Given the description of an element on the screen output the (x, y) to click on. 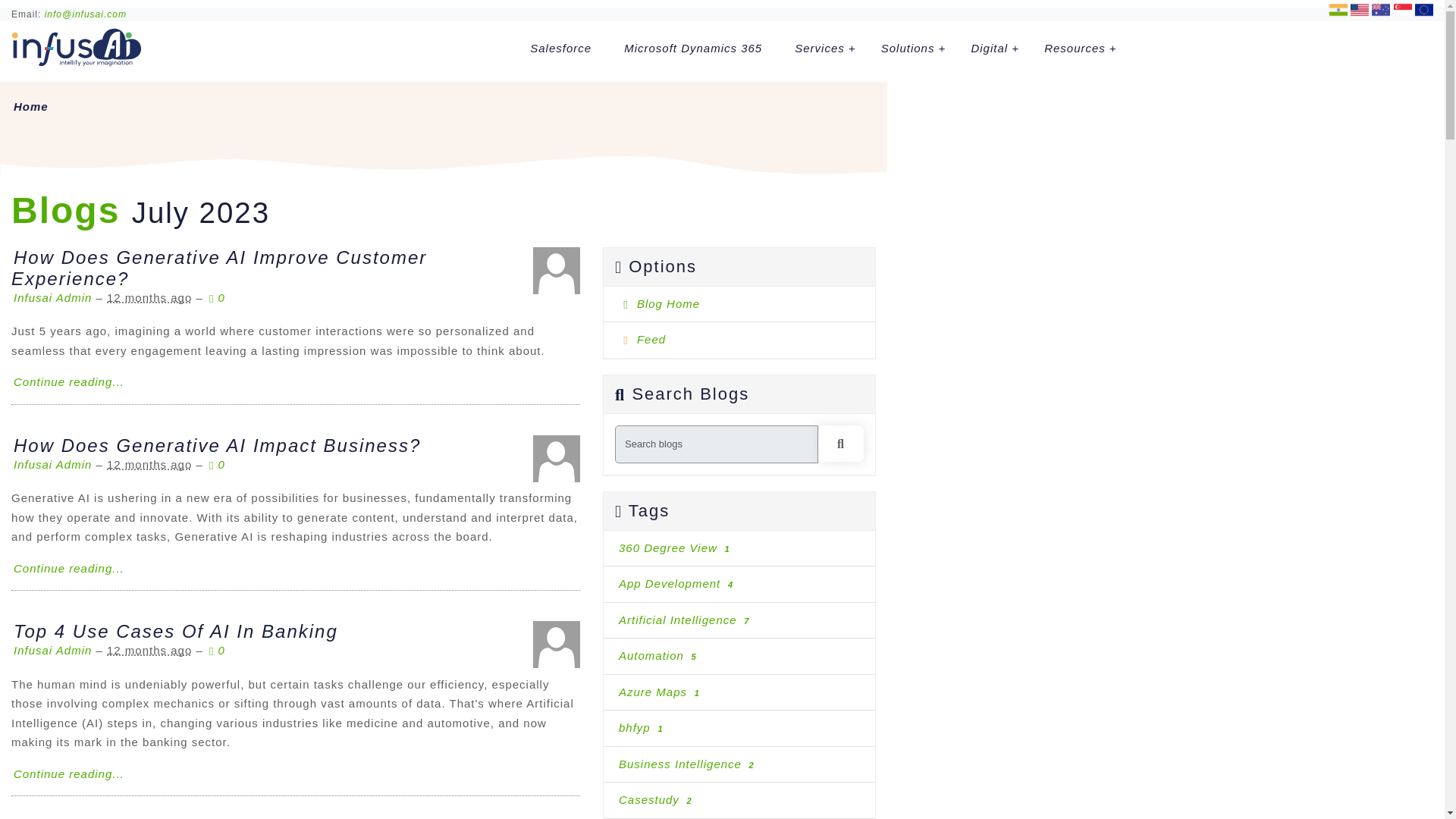
Infusai Admin (555, 270)
Continue reading... (68, 567)
0 (217, 297)
Salesforce (560, 47)
Infusai Admin (555, 458)
Services (821, 47)
Microsoft Dynamics 365 (692, 47)
Infusai Admin (52, 463)
Infusai Admin (52, 297)
Continue reading... (68, 381)
Infusai Admin (555, 644)
0 (217, 463)
